Given the description of an element on the screen output the (x, y) to click on. 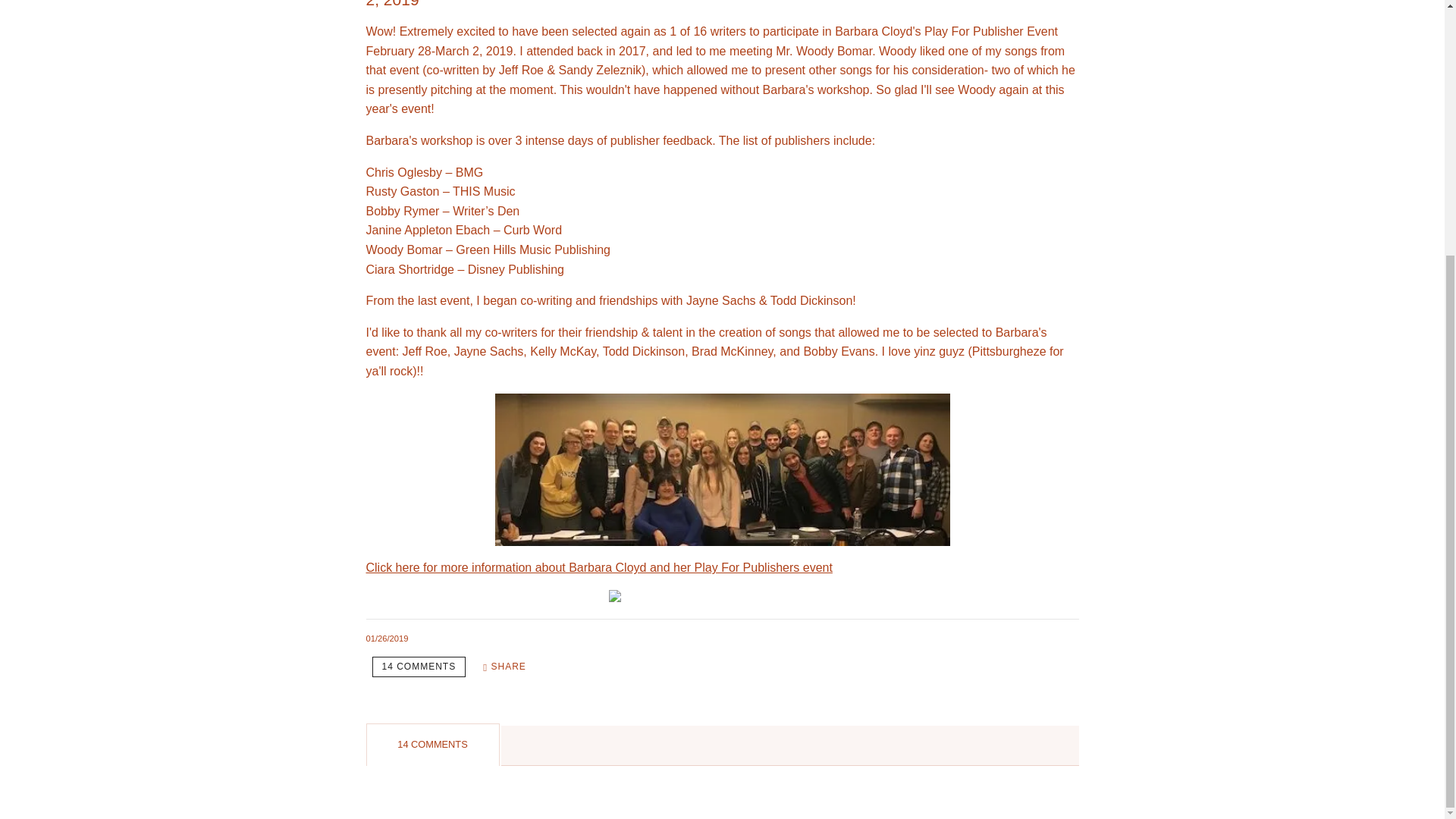
January 26, 2019 17:33 (386, 637)
14 comments (418, 666)
